Given the description of an element on the screen output the (x, y) to click on. 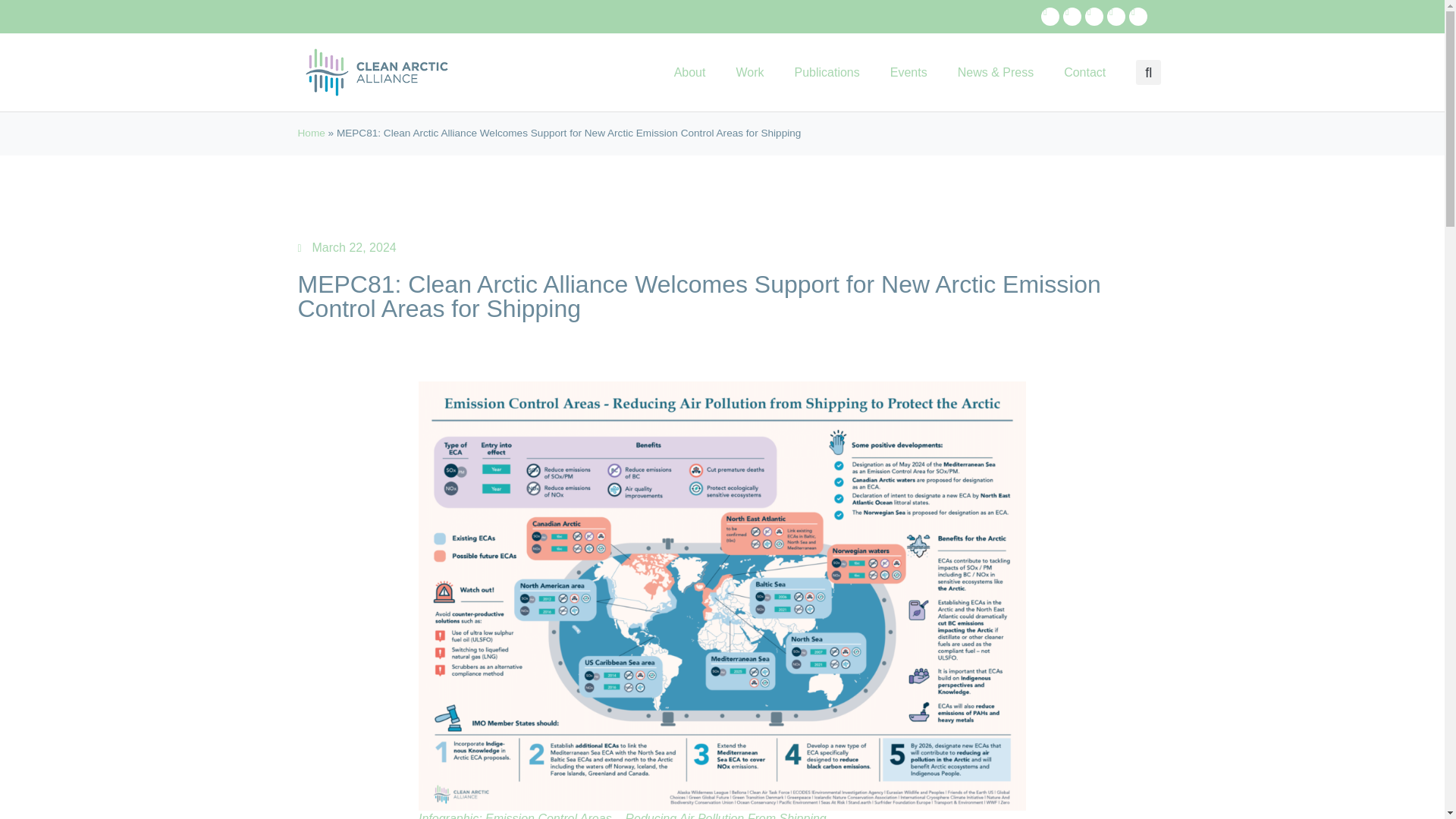
About (689, 72)
Work (749, 72)
Events (908, 72)
Publications (826, 72)
